Given the description of an element on the screen output the (x, y) to click on. 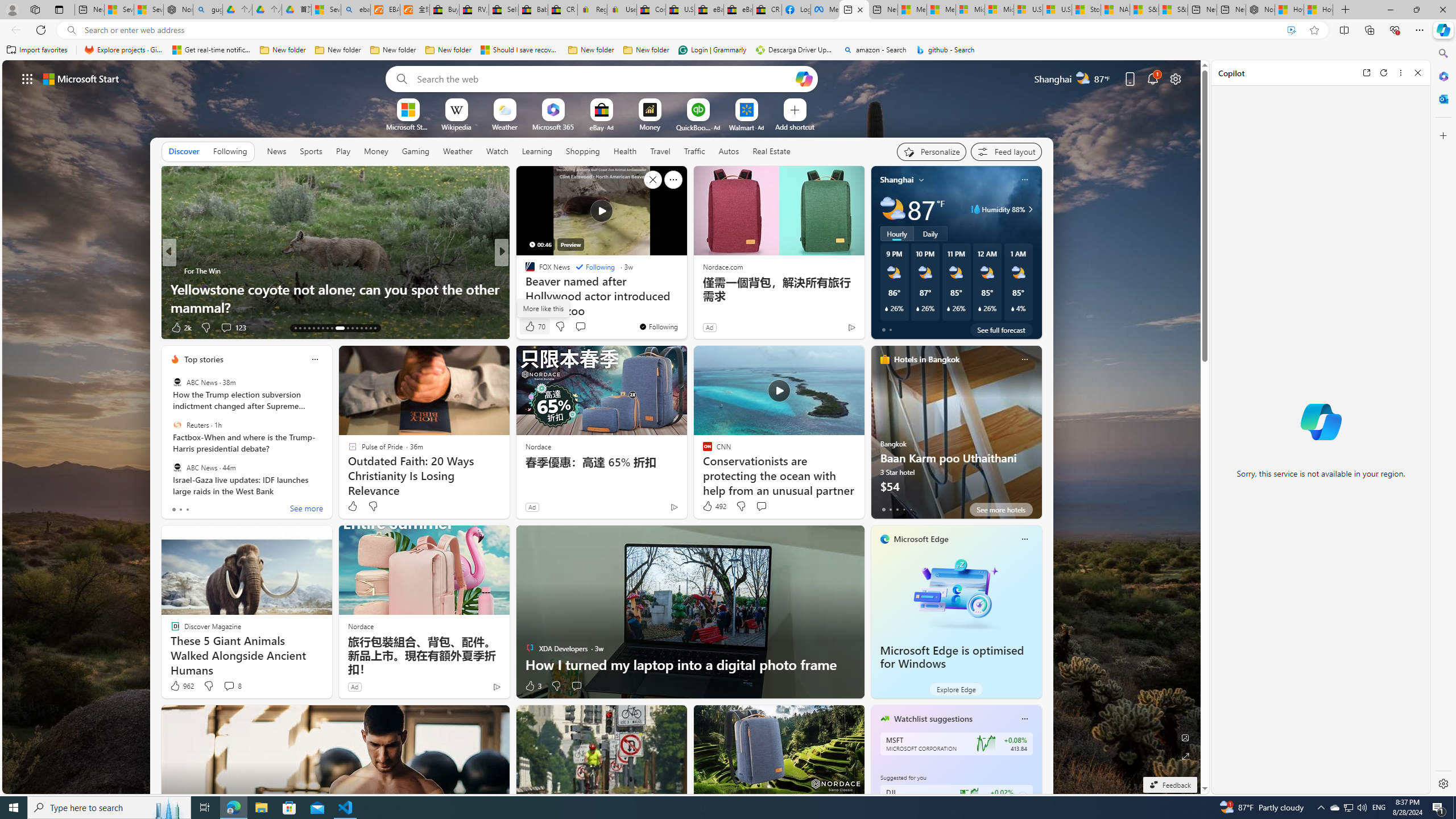
Buy Auto Parts & Accessories | eBay (444, 9)
SlashGear (524, 288)
Customize (1442, 135)
AutomationID: tab-13 (295, 328)
AutomationID: tab-16 (309, 328)
AutomationID: tab-14 (299, 328)
Health (624, 151)
AutomationID: tab-32 (361, 328)
Personalize your feed" (931, 151)
Add a site (793, 126)
Explore Edge (955, 689)
